Given the description of an element on the screen output the (x, y) to click on. 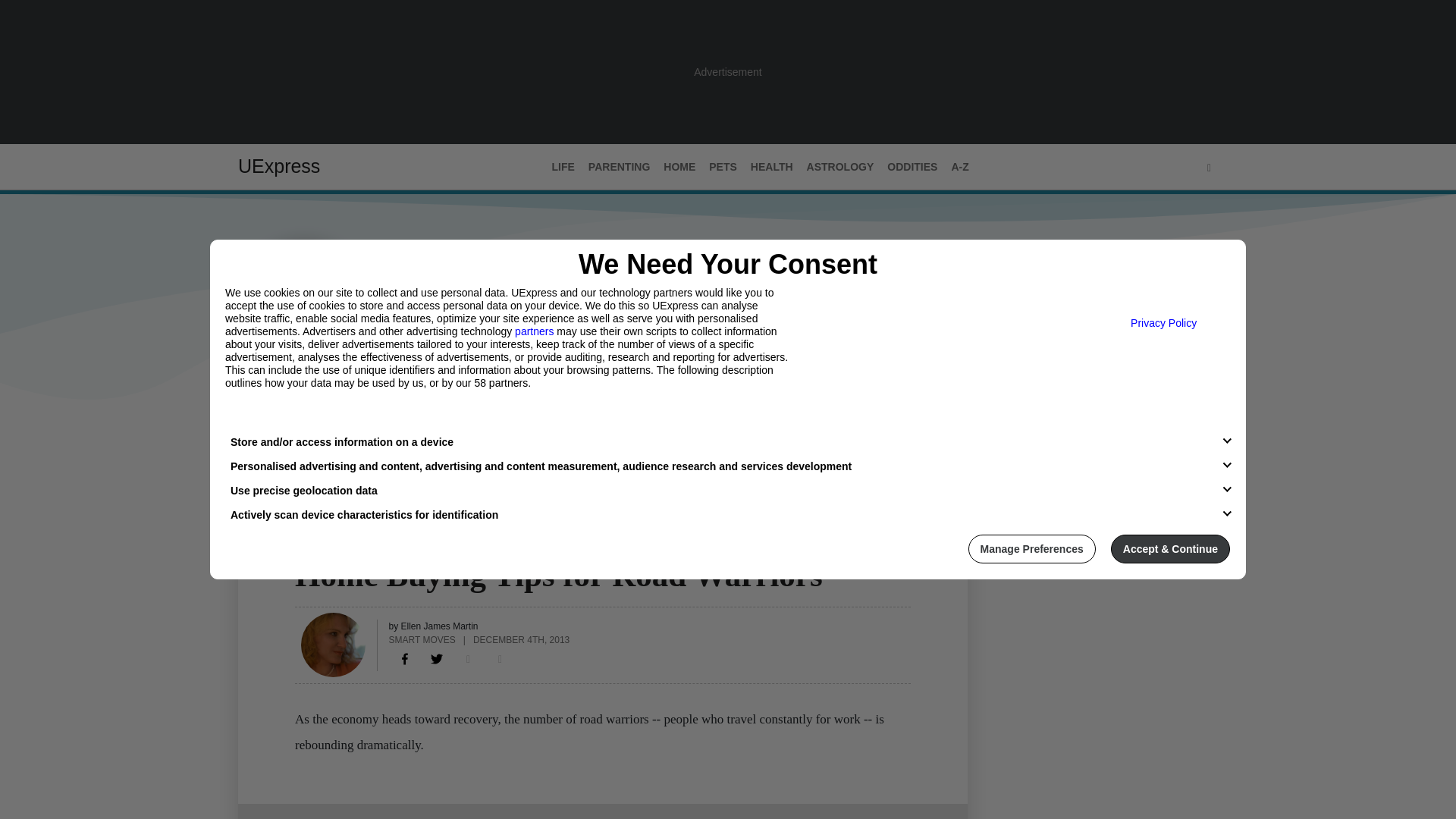
Latest (256, 431)
SMART MOVES (421, 639)
Home Buying Tips for Road Warriors (404, 658)
PETS (722, 166)
HOME (678, 166)
A-Z (959, 166)
UExpress (279, 166)
LIFE (562, 166)
Archives (371, 431)
HOME (310, 545)
About (309, 431)
HEALTH (771, 166)
ASTROLOGY (839, 166)
PARENTING (618, 166)
ODDITIES (911, 166)
